Given the description of an element on the screen output the (x, y) to click on. 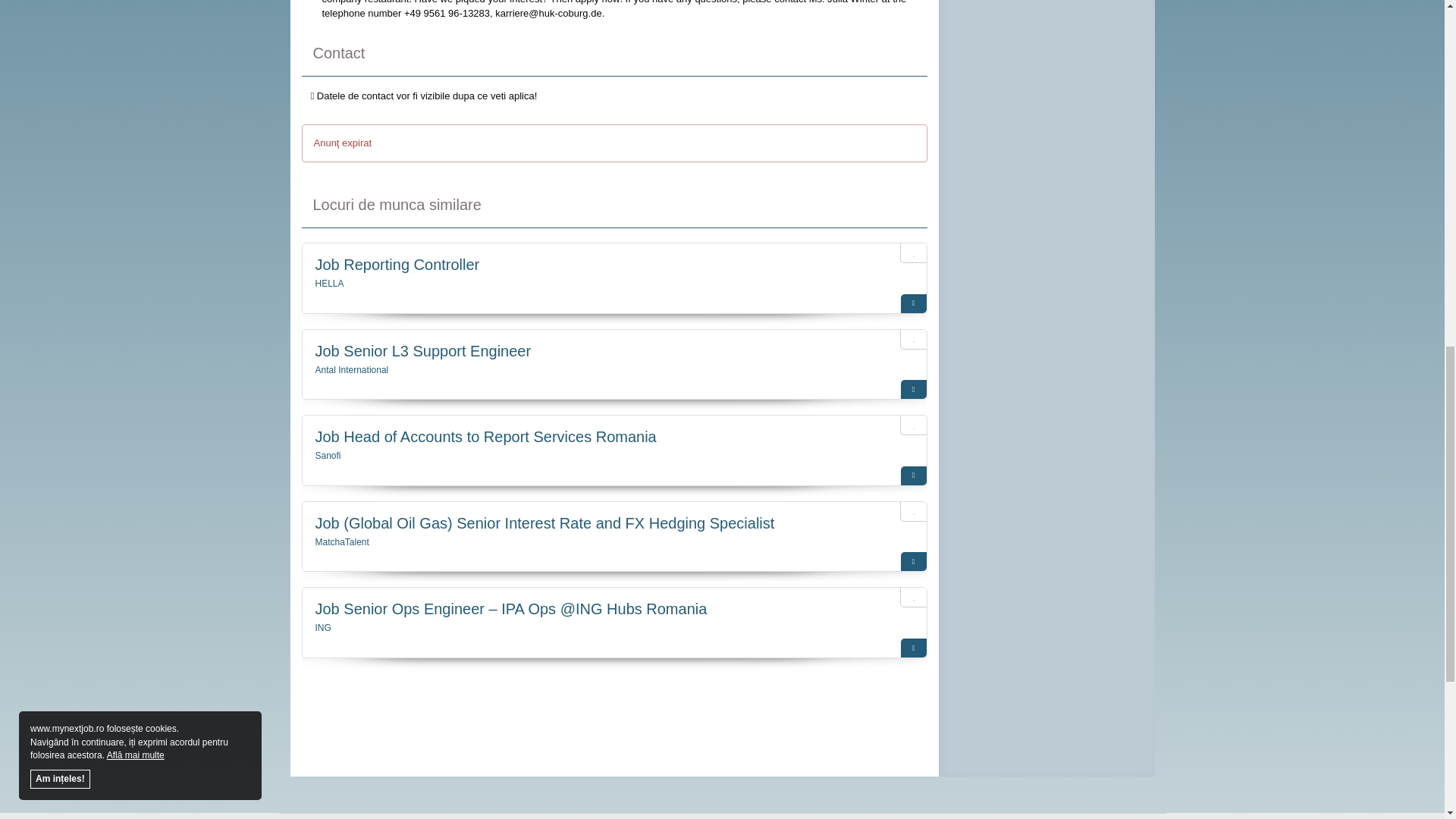
Similare (913, 303)
Similare (913, 561)
Job Head of Accounts to Report Services Romania (485, 436)
MatchaTalent (342, 542)
Job Senior L3 Support Engineer (423, 351)
Similare (913, 647)
HELLA (329, 283)
Similare (913, 475)
Antal International (351, 369)
Similare (913, 389)
Job Reporting Controller (397, 264)
Sanofi (327, 455)
